Given the description of an element on the screen output the (x, y) to click on. 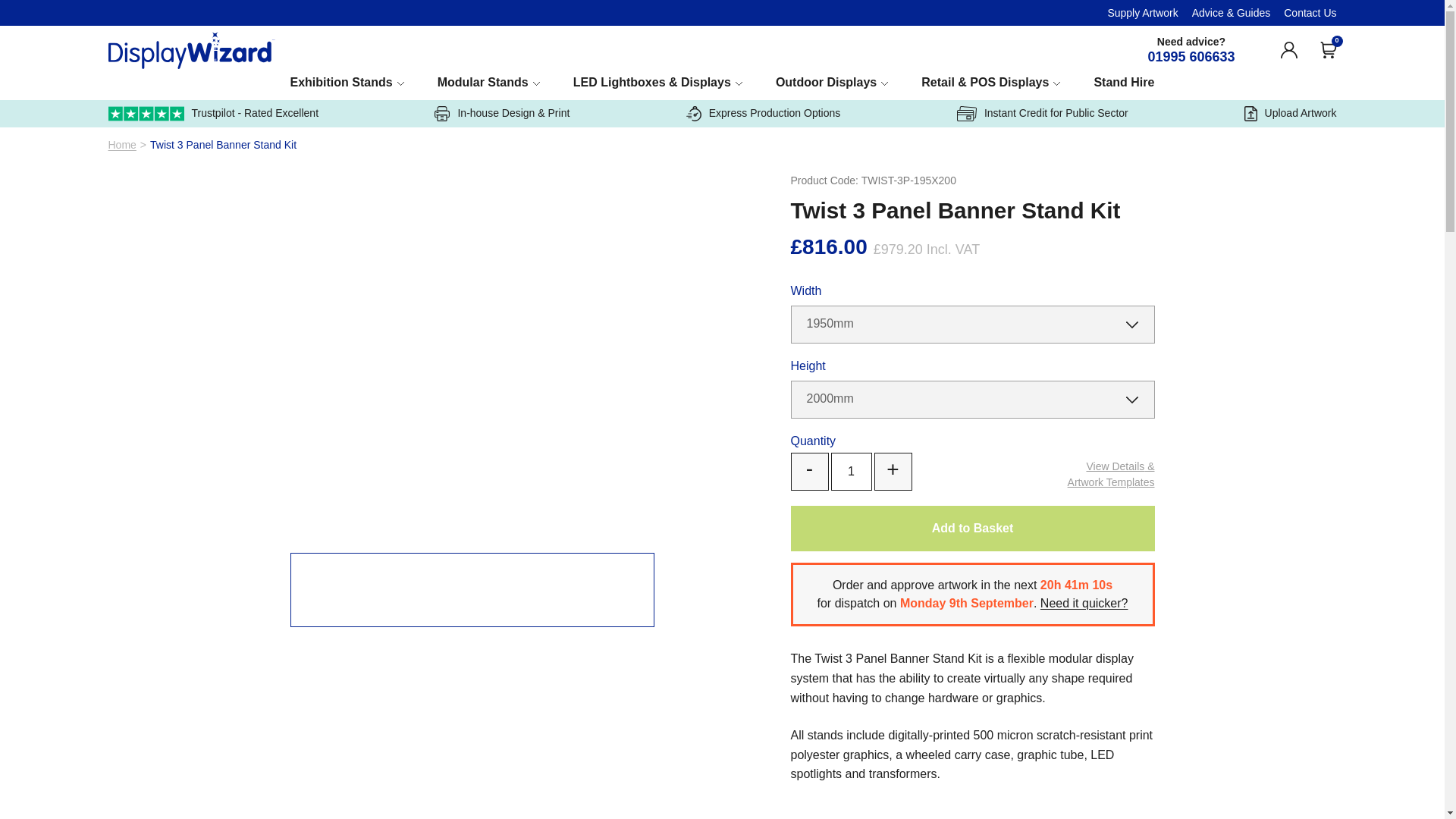
Exhibition Stands (346, 82)
Contact Us (1310, 12)
0 (1327, 49)
Open Cart (1327, 49)
1 (851, 471)
Supply Artwork (1141, 12)
View Account (1288, 49)
Modular Stands (489, 82)
